Given the description of an element on the screen output the (x, y) to click on. 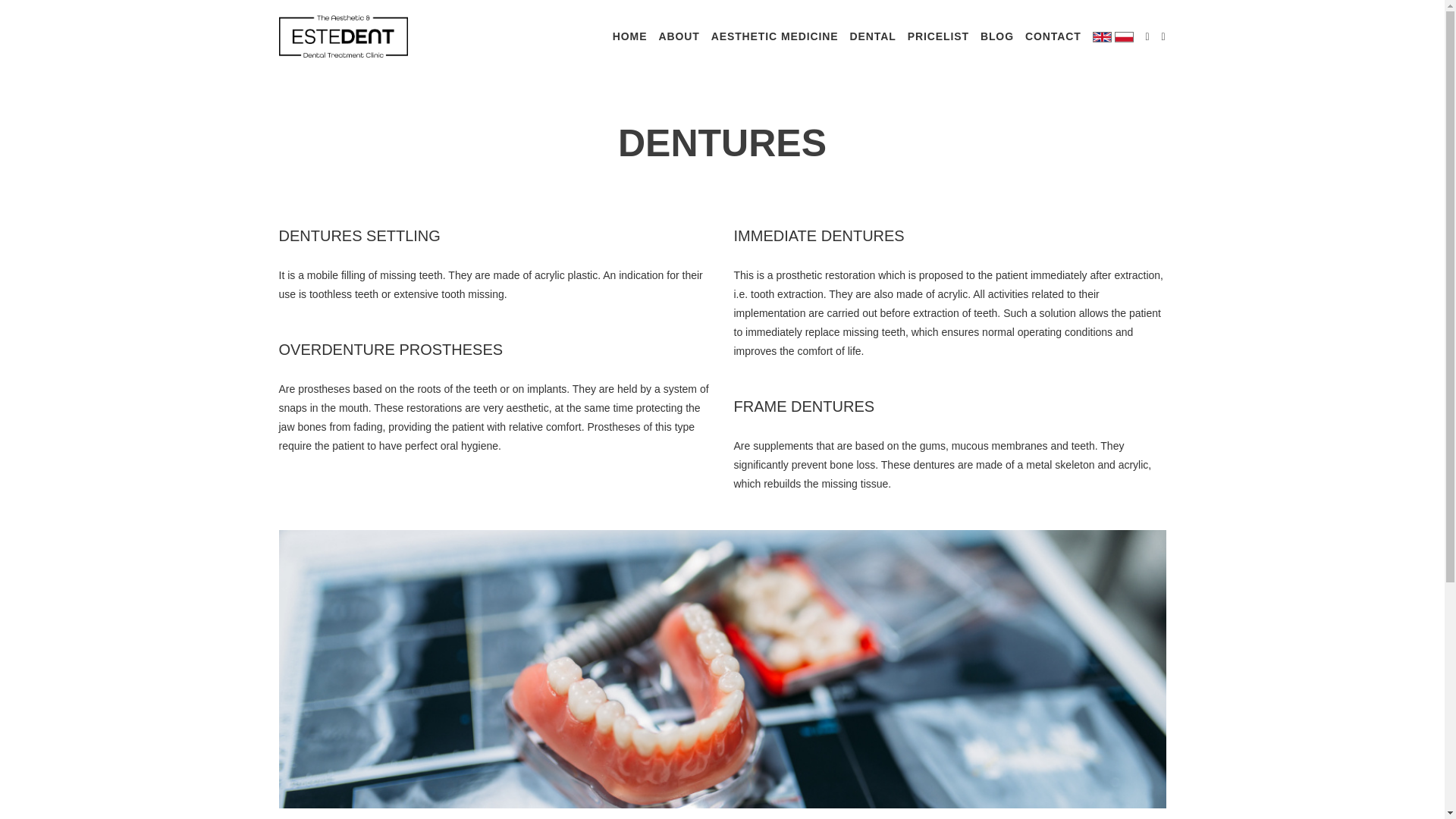
Blog (996, 36)
Home (629, 36)
ABOUT (678, 36)
Pricelist (938, 36)
AESTHETIC MEDICINE (774, 36)
PRICELIST (938, 36)
Contact (1053, 36)
CONTACT (1053, 36)
Dental (873, 36)
BLOG (996, 36)
Aesthetic Medicine (774, 36)
About (678, 36)
DENTAL (873, 36)
HOME (629, 36)
